Given the description of an element on the screen output the (x, y) to click on. 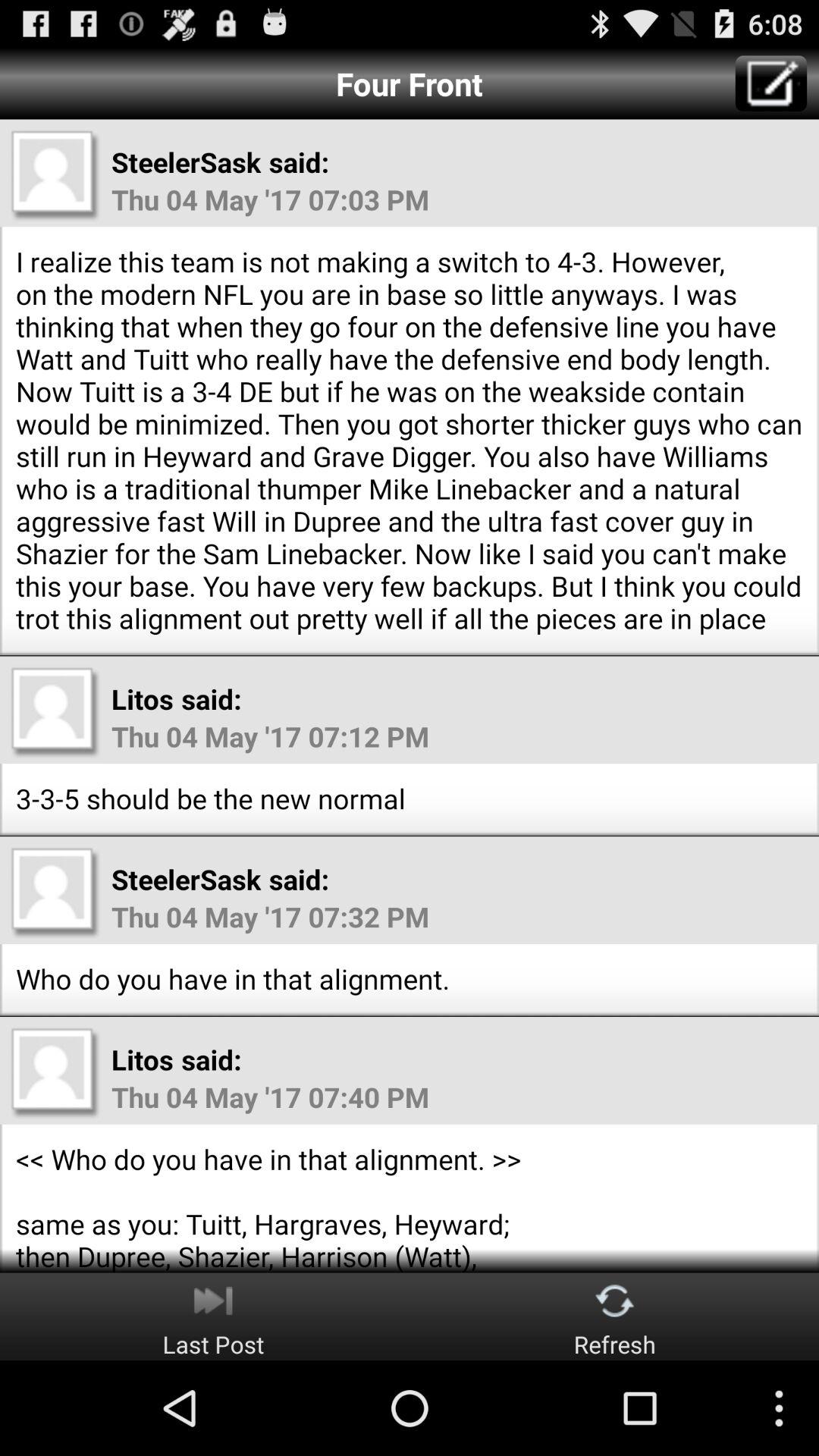
select text litos next to fourth profile image (142, 1059)
